Given the description of an element on the screen output the (x, y) to click on. 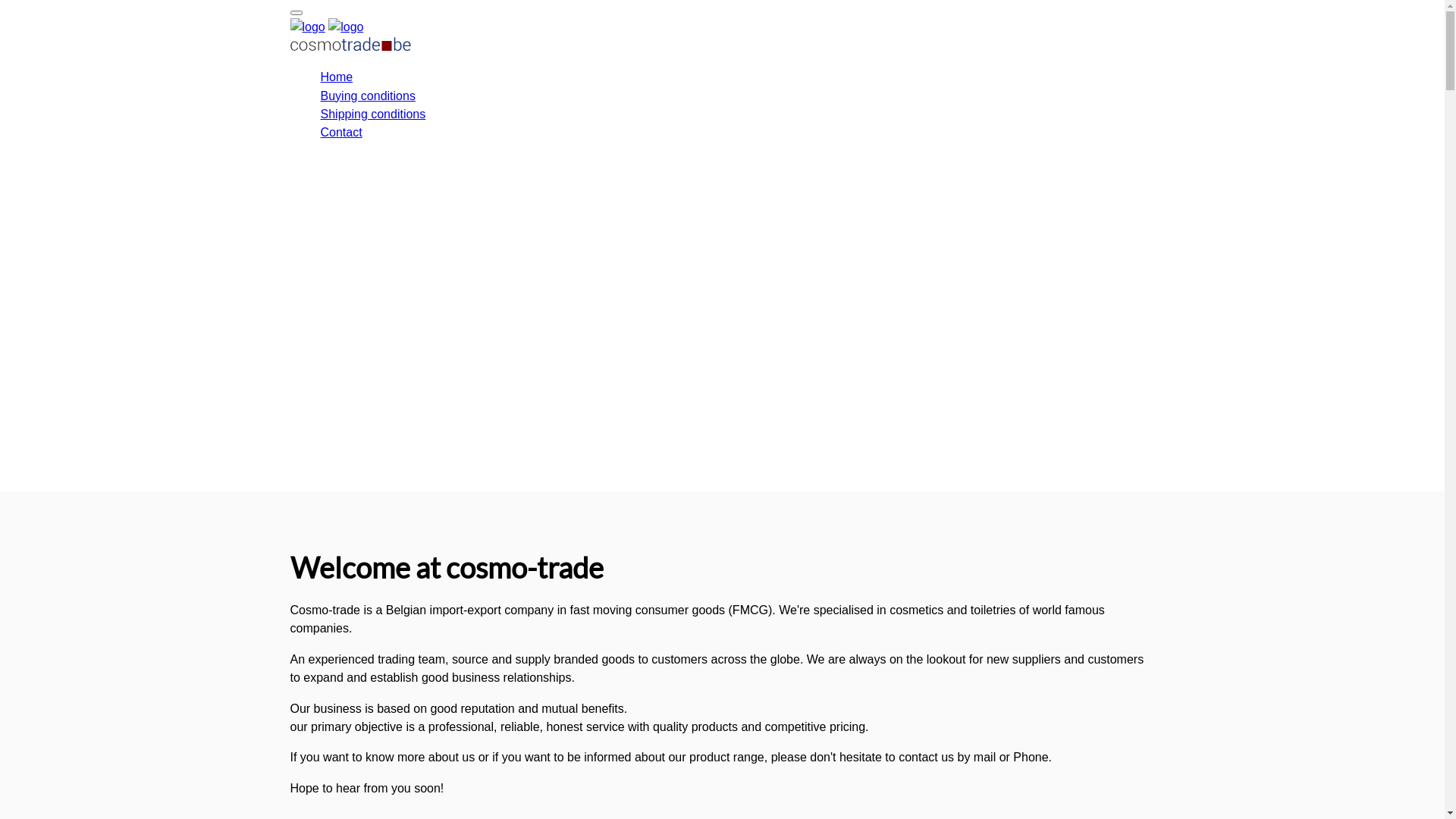
Contact Element type: text (340, 131)
Shipping conditions Element type: text (372, 113)
Buying conditions Element type: text (367, 95)
Home Element type: text (336, 76)
